Given the description of an element on the screen output the (x, y) to click on. 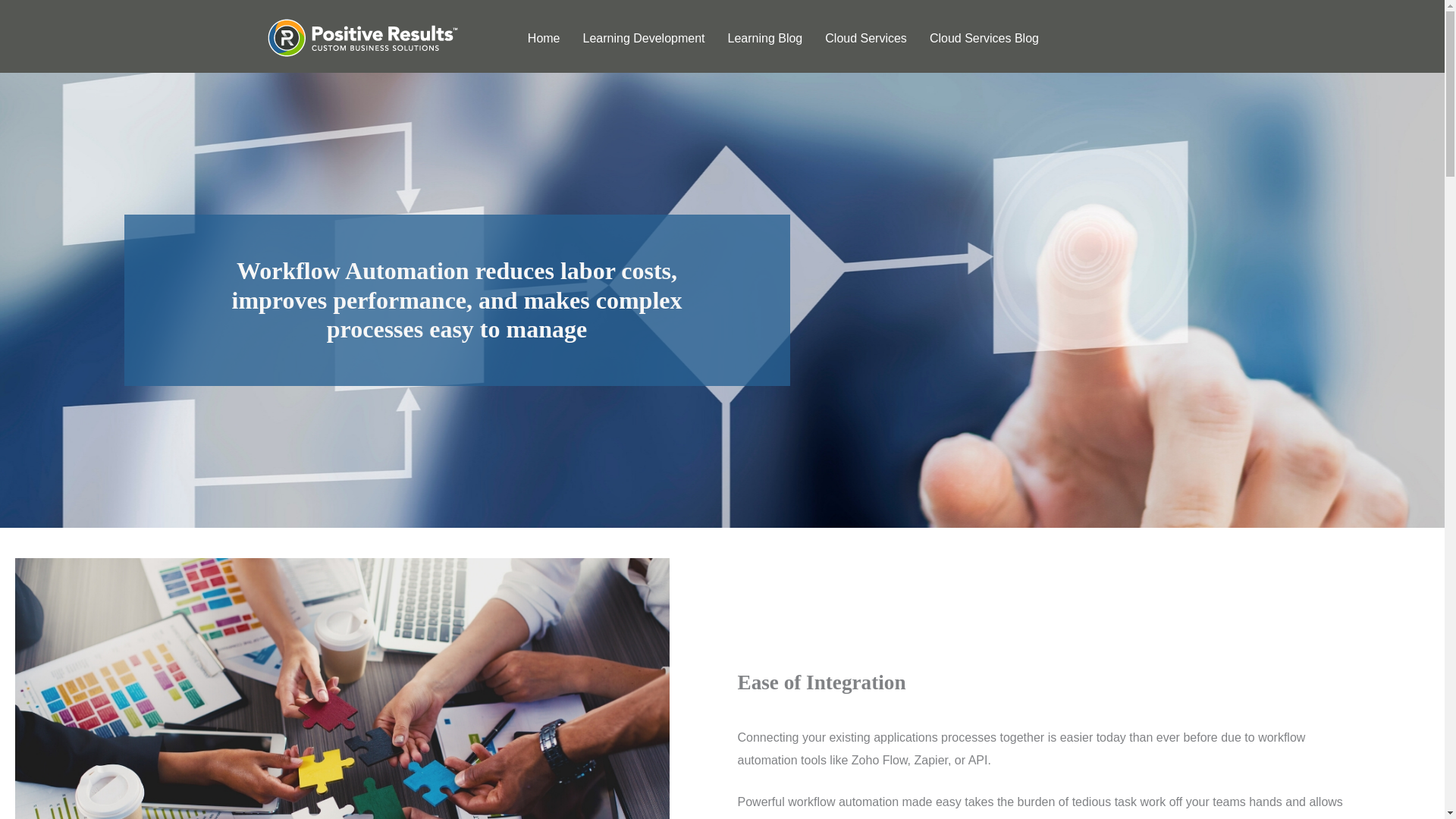
Learning Blog (765, 37)
Cloud Services Blog (983, 37)
Home (543, 37)
Positive Results Logo (361, 37)
Cloud Services (865, 37)
Learning Development (644, 37)
